Given the description of an element on the screen output the (x, y) to click on. 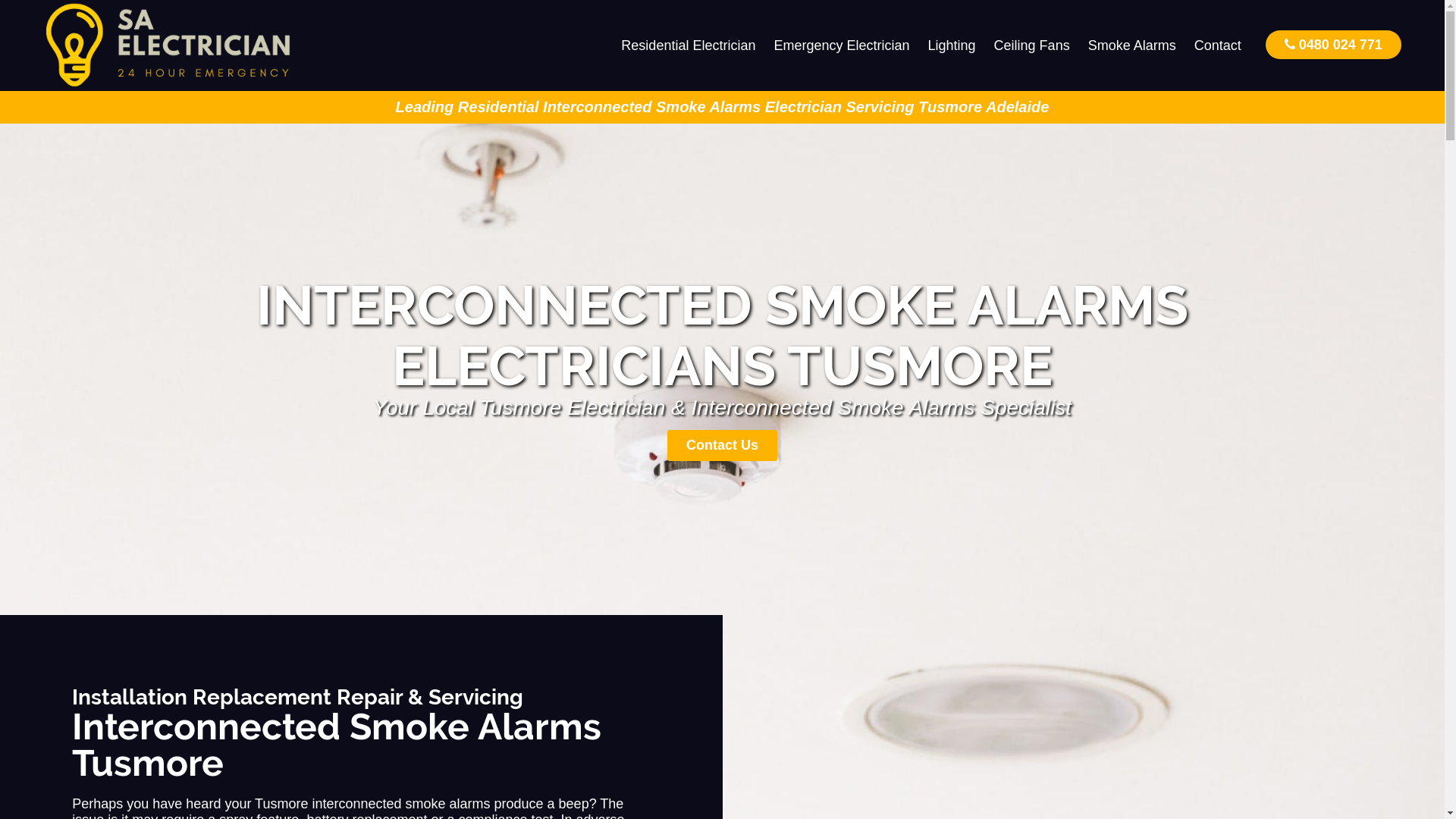
0480 024 771 Element type: text (1333, 44)
Lighting Element type: text (952, 45)
Residential Electrician Element type: text (687, 45)
Emergency Electrician Element type: text (841, 45)
Smoke Alarms Element type: text (1132, 45)
Contact Element type: text (1217, 45)
Contact Us Element type: text (722, 445)
Ceiling Fans Element type: text (1032, 45)
